Given the description of an element on the screen output the (x, y) to click on. 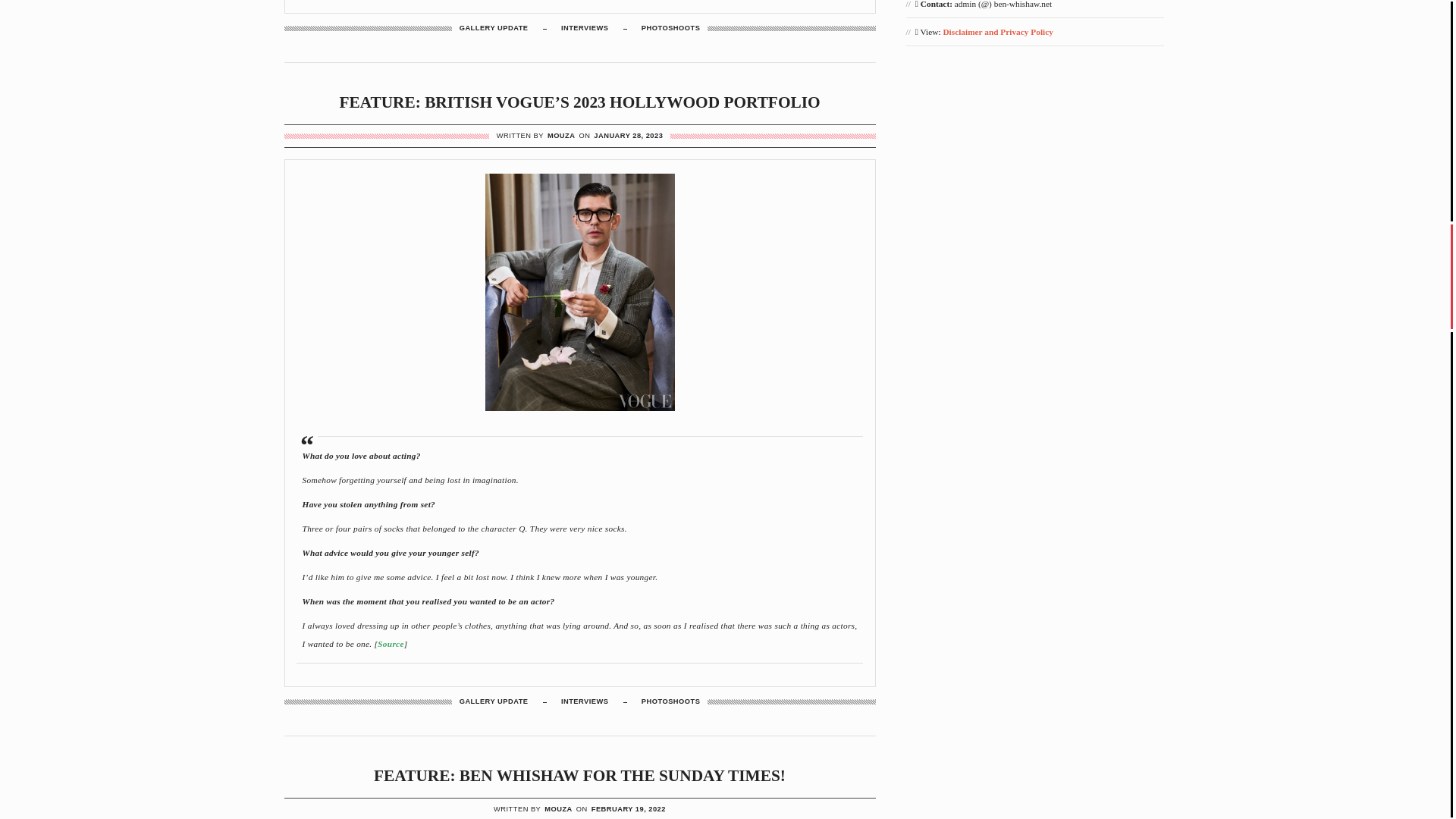
GALLERY UPDATE (494, 28)
FEATURE: BEN WHISHAW FOR THE SUNDAY TIMES! (580, 775)
Permanent Link to Feature: Ben Whishaw for The Sunday Times! (580, 775)
PHOTOSHOOTS (671, 701)
INTERVIEWS (584, 701)
GALLERY UPDATE (494, 701)
INTERVIEWS (584, 28)
Source (390, 643)
PHOTOSHOOTS (671, 28)
